Given the description of an element on the screen output the (x, y) to click on. 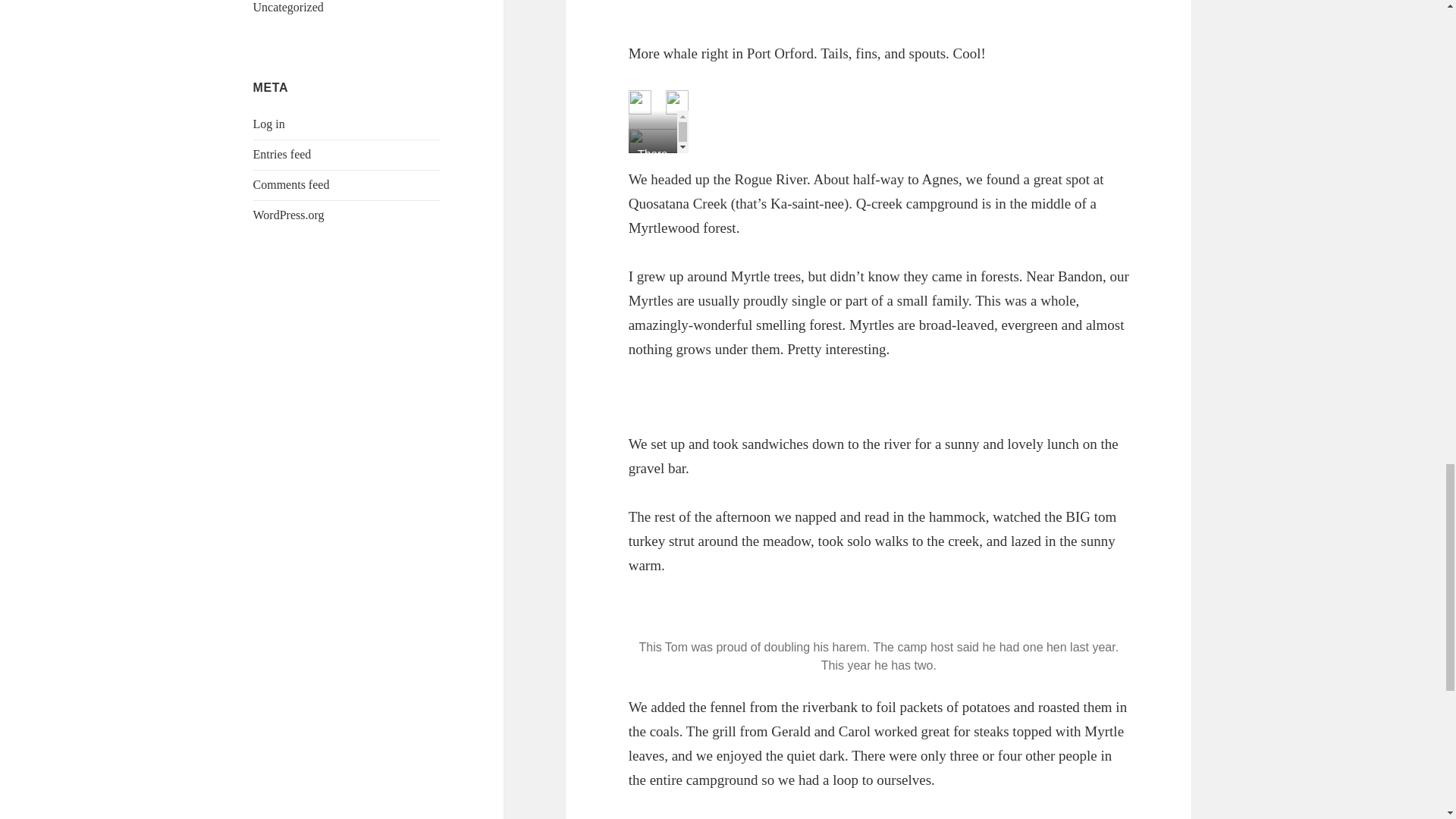
Uncategorized (288, 6)
Comments feed (291, 184)
Entries feed (282, 154)
Log in (269, 123)
WordPress.org (288, 214)
